Given the description of an element on the screen output the (x, y) to click on. 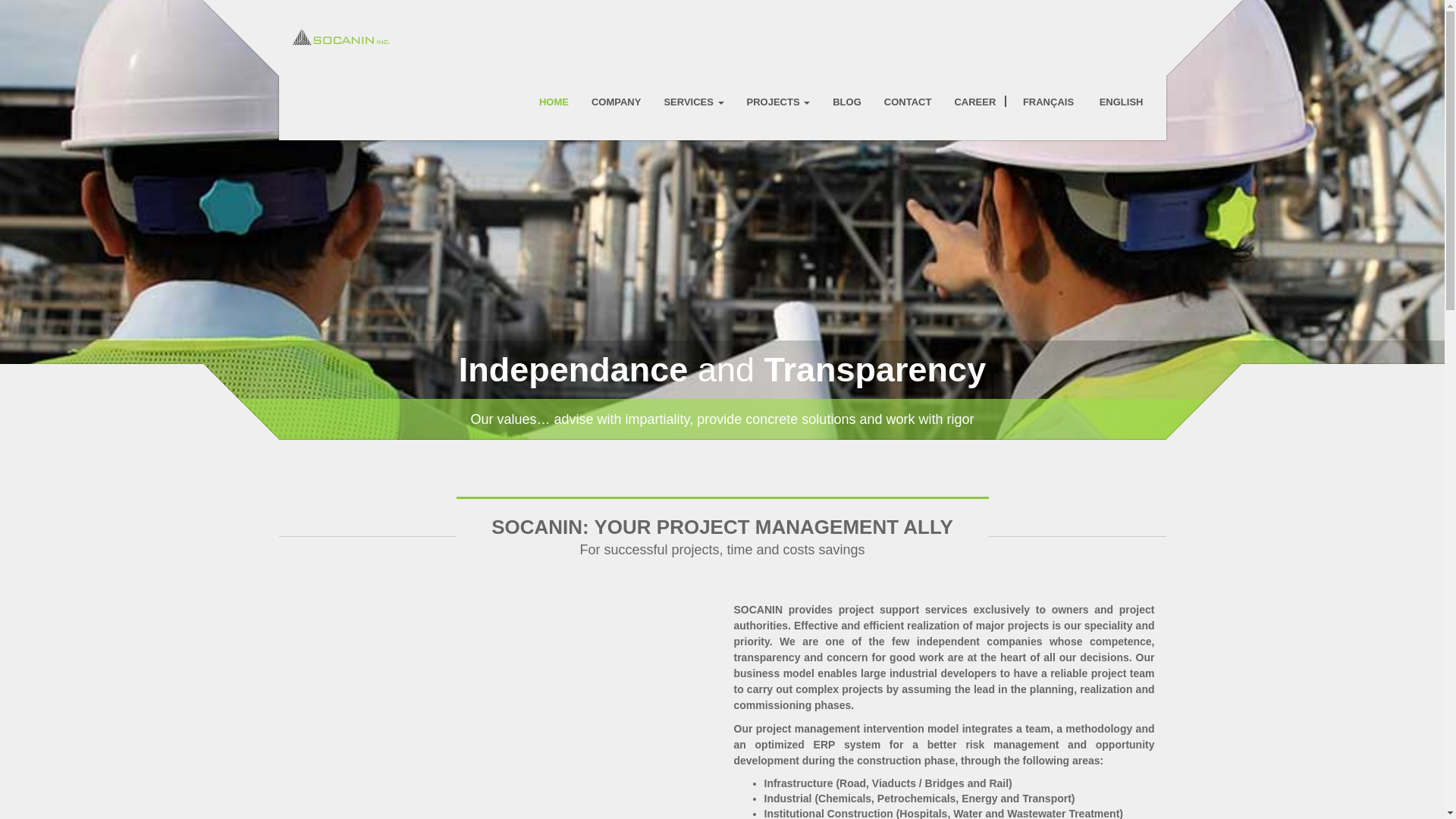
Blog (847, 101)
CONTACT (907, 101)
1 (695, 459)
Career (975, 101)
Home (553, 101)
Contact (907, 101)
 ENGLISH (1119, 101)
PROJECTS (778, 101)
Company (615, 101)
Services (692, 101)
4 (748, 459)
Projects (778, 101)
BLOG (847, 101)
3 (729, 457)
SERVICES (692, 101)
